Given the description of an element on the screen output the (x, y) to click on. 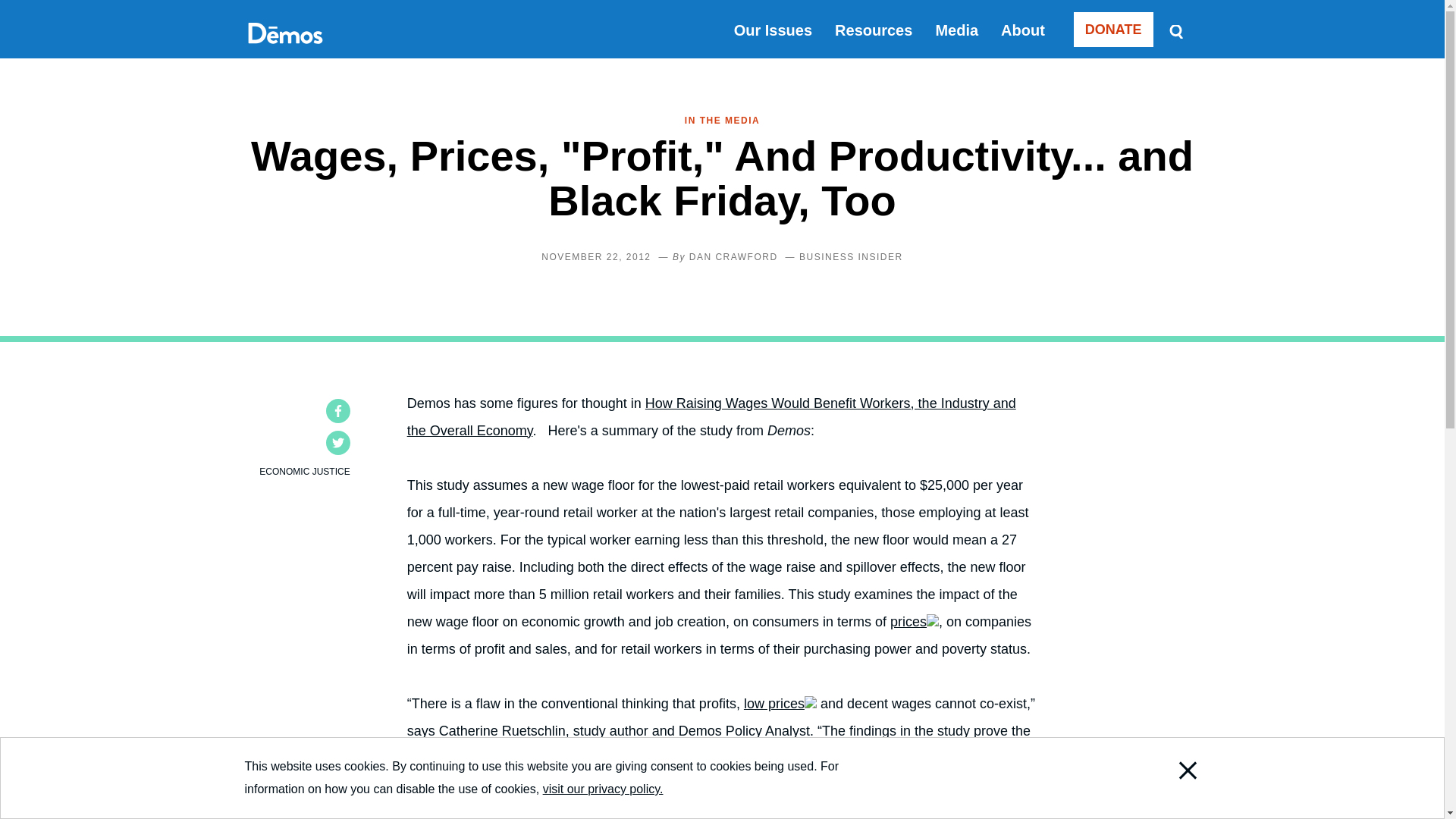
Search (1176, 30)
DAN CRAWFORD (732, 256)
prices (914, 621)
DONATE (1113, 29)
Search (1176, 30)
Close Notification (1168, 797)
Robert Reich (446, 812)
ECONOMIC JUSTICE (304, 471)
Twitter (338, 442)
Facebook (338, 410)
Resources (873, 30)
Media (956, 30)
About (1023, 30)
